Given the description of an element on the screen output the (x, y) to click on. 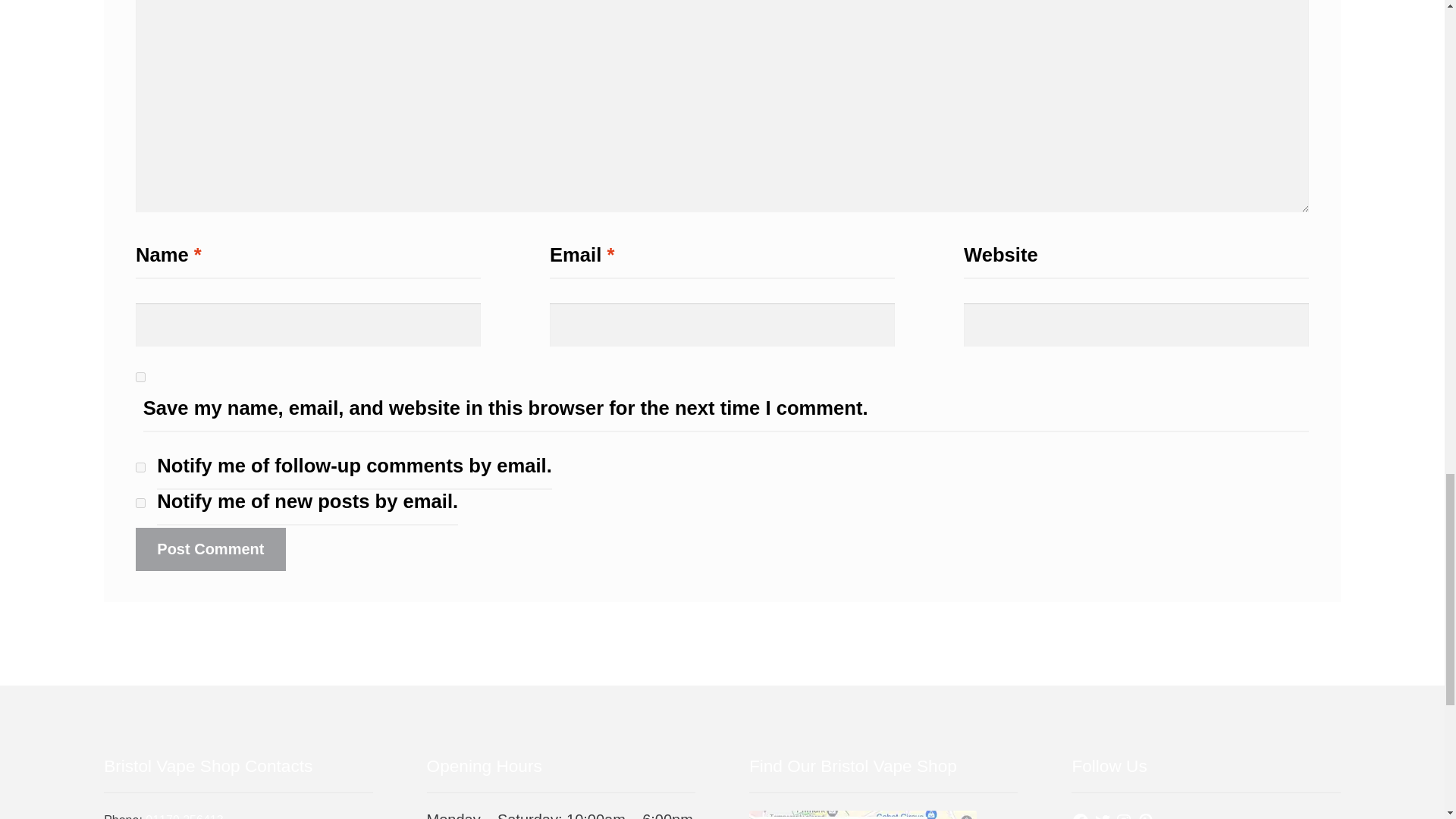
Post Comment (210, 548)
subscribe (140, 467)
subscribe (140, 501)
yes (140, 377)
